Given the description of an element on the screen output the (x, y) to click on. 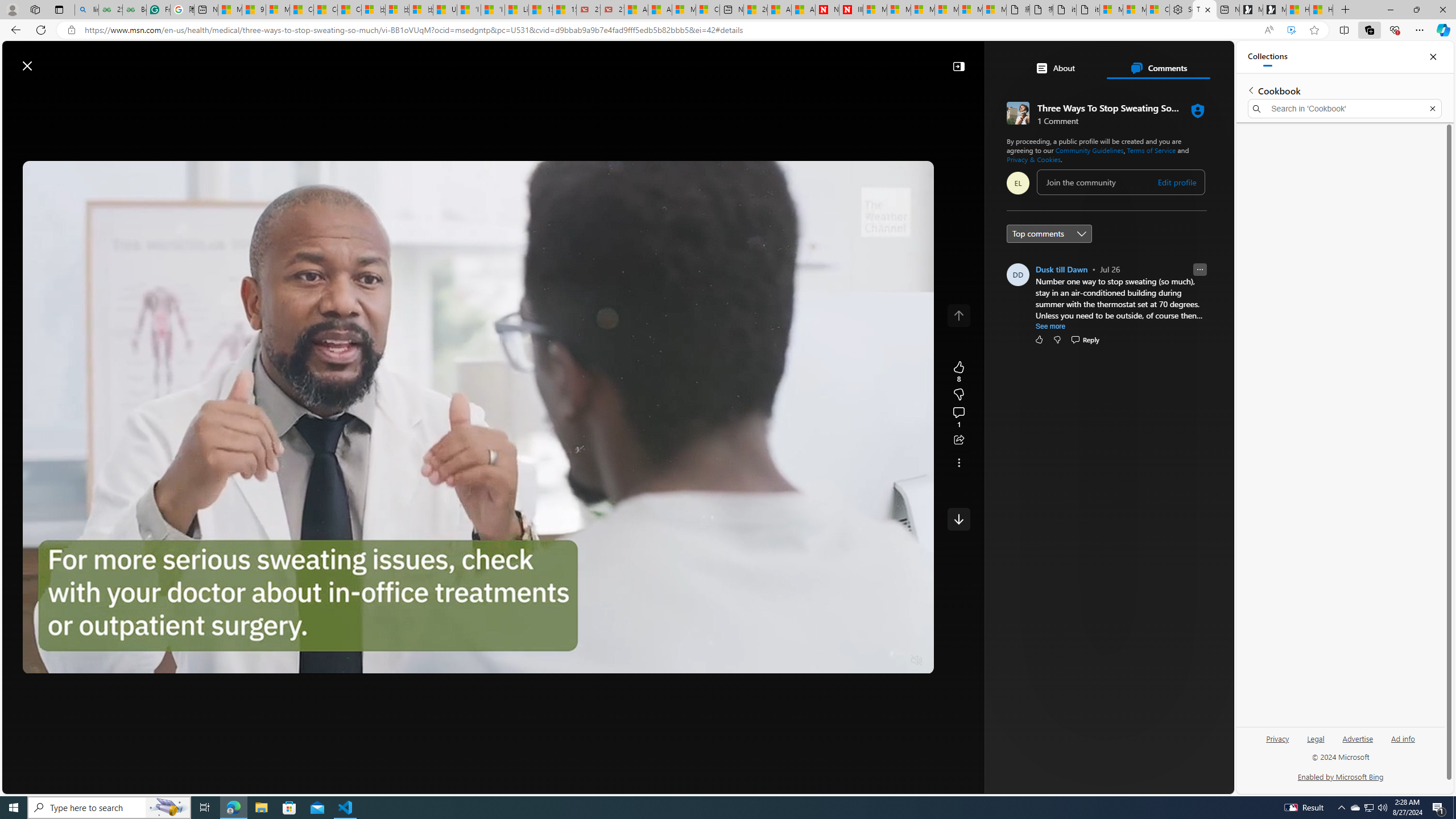
Exit search (1432, 108)
